Given the description of an element on the screen output the (x, y) to click on. 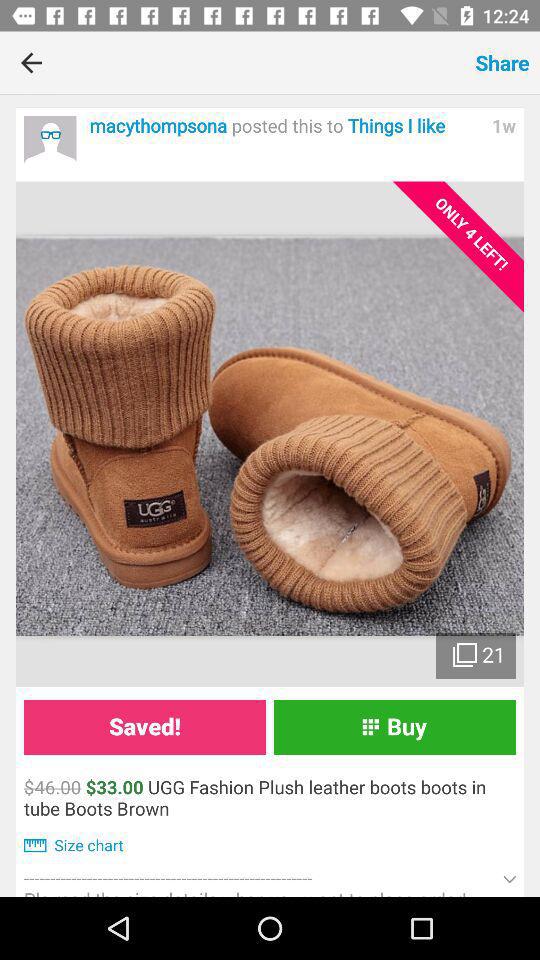
photo of product (269, 433)
